Given the description of an element on the screen output the (x, y) to click on. 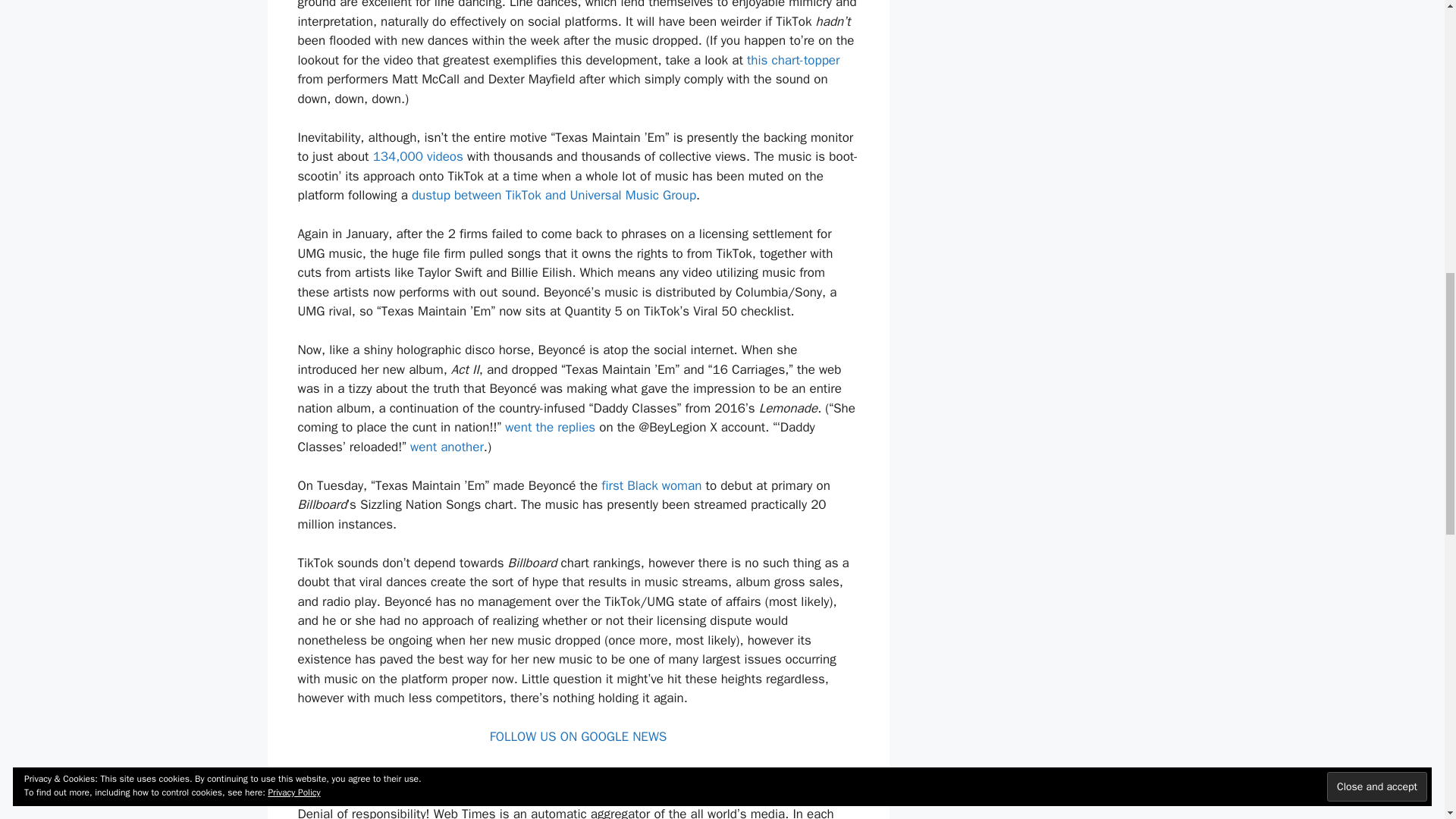
first Black woman (651, 485)
dustup between TikTok and Universal Music Group (553, 195)
went the replies (550, 426)
this chart-topper (793, 59)
Read original article here (367, 774)
FOLLOW US ON GOOGLE NEWS (577, 736)
went another (446, 446)
134,000 videos (417, 156)
